Given the description of an element on the screen output the (x, y) to click on. 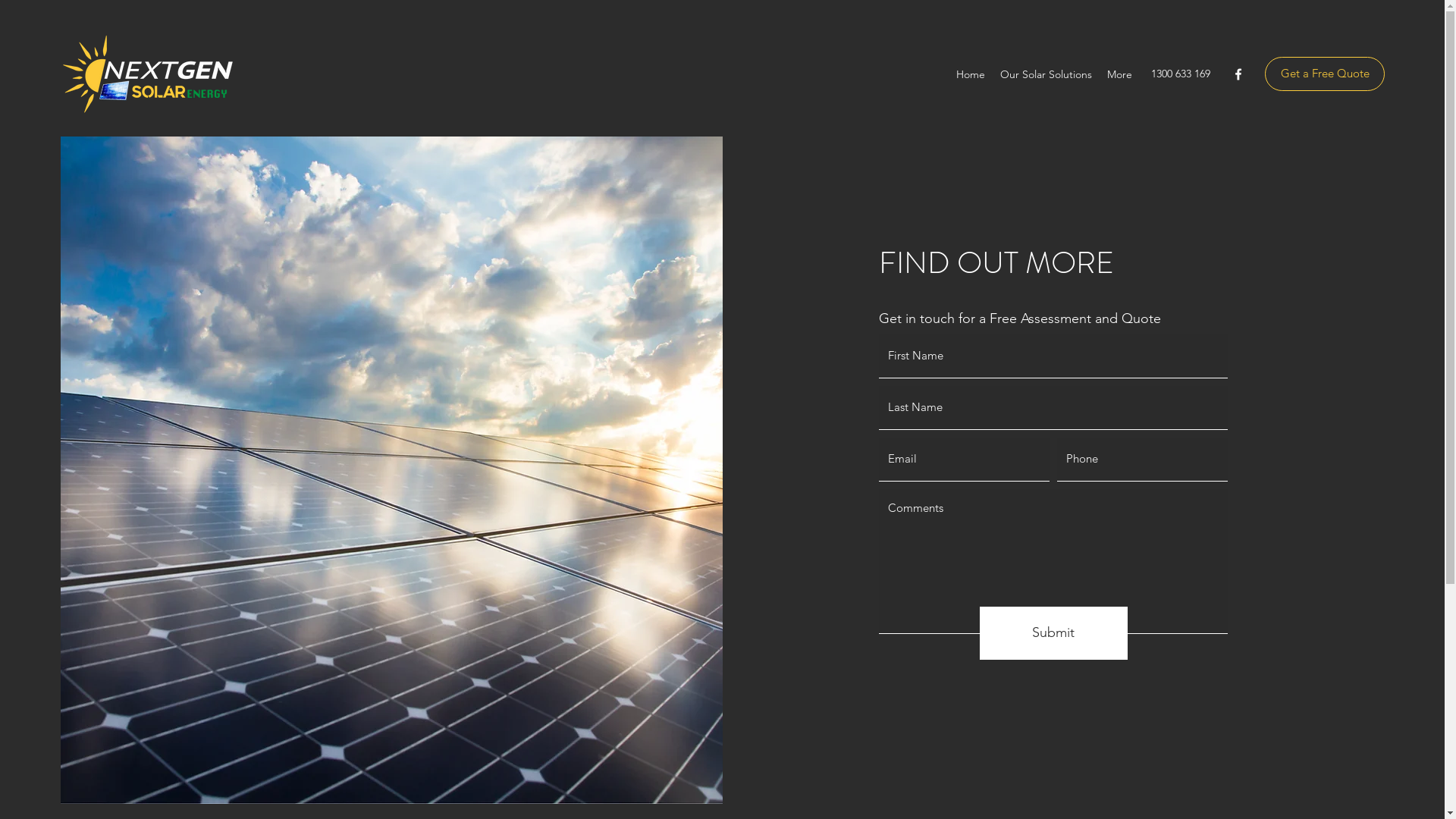
Our Solar Solutions Element type: text (1045, 73)
Home Element type: text (970, 73)
Get a Free Quote Element type: text (1324, 73)
Submit Element type: text (1053, 632)
